Given the description of an element on the screen output the (x, y) to click on. 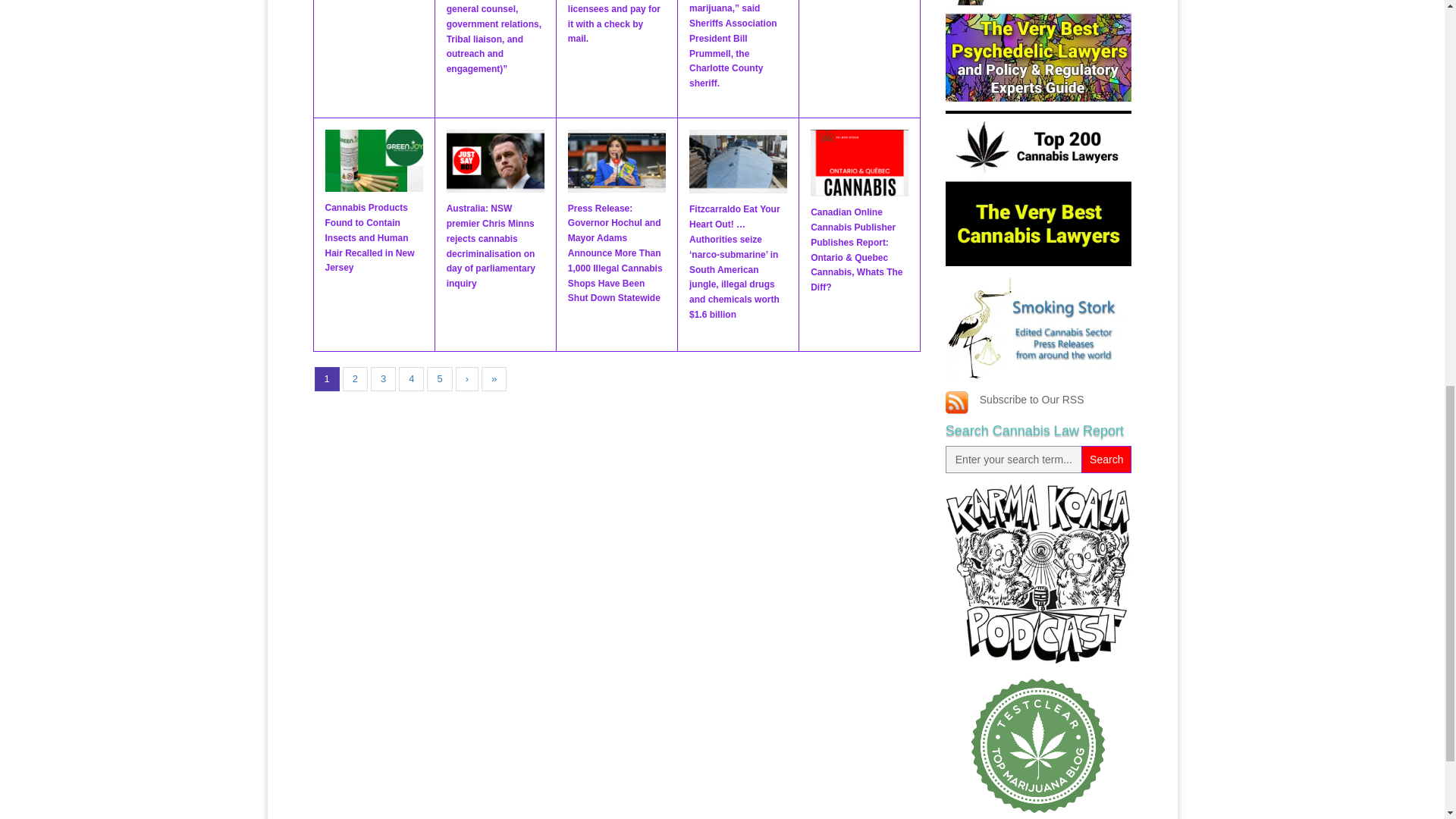
Search (1106, 459)
Go to page 3 (383, 379)
Go to page 4 (410, 379)
Go to next page (467, 379)
Current page is 1 (326, 379)
Go to page 2 (355, 379)
Go to last page (493, 379)
Go to page 5 (438, 379)
Search (1106, 459)
